Given the description of an element on the screen output the (x, y) to click on. 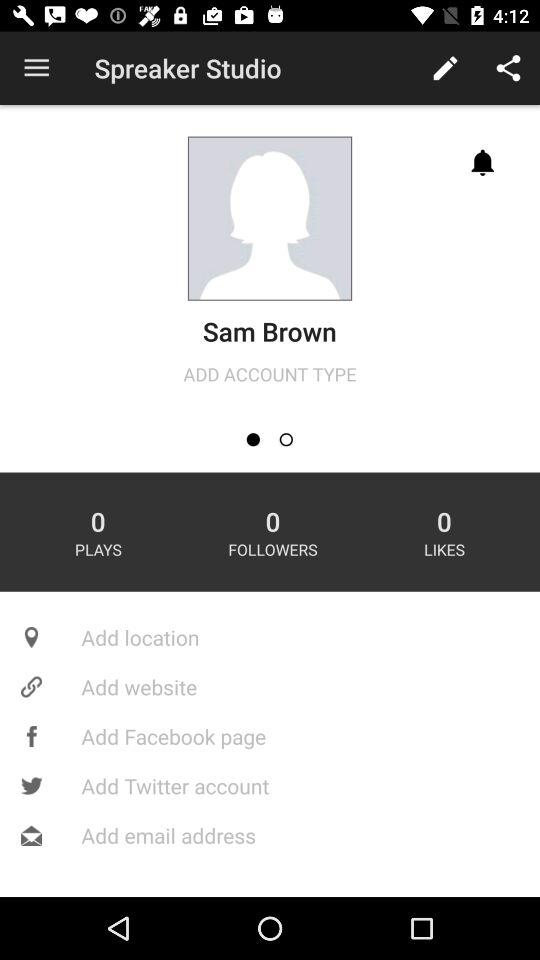
click item above the add facebook page item (270, 686)
